Given the description of an element on the screen output the (x, y) to click on. 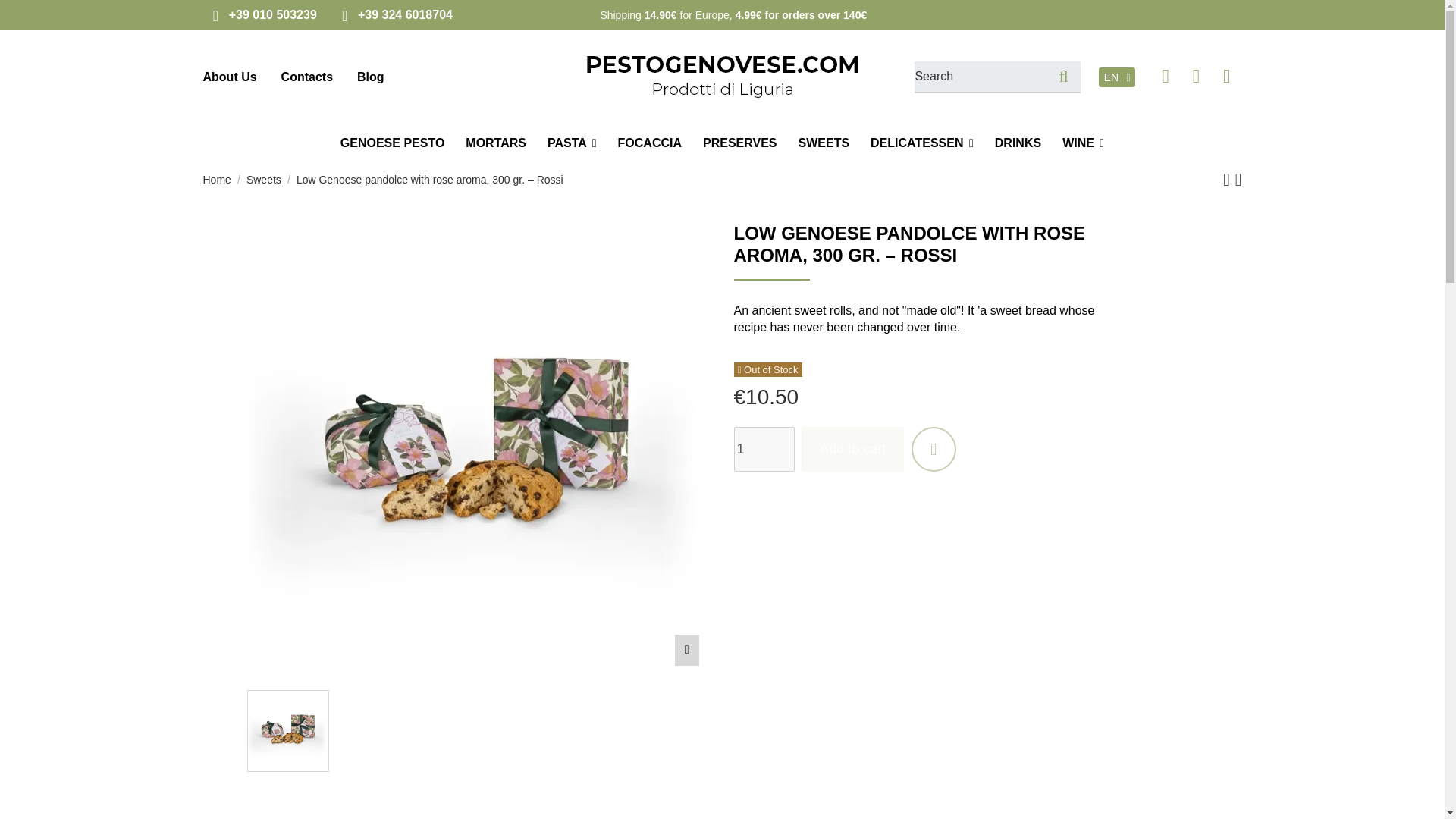
EN (1117, 76)
PASTA (572, 142)
Add to wishlist (933, 448)
DELICATESSEN (922, 142)
WINE (1083, 142)
Contacts (307, 76)
1 (763, 448)
FOCACCIA (650, 142)
About Us (230, 76)
Blog (370, 76)
